Given the description of an element on the screen output the (x, y) to click on. 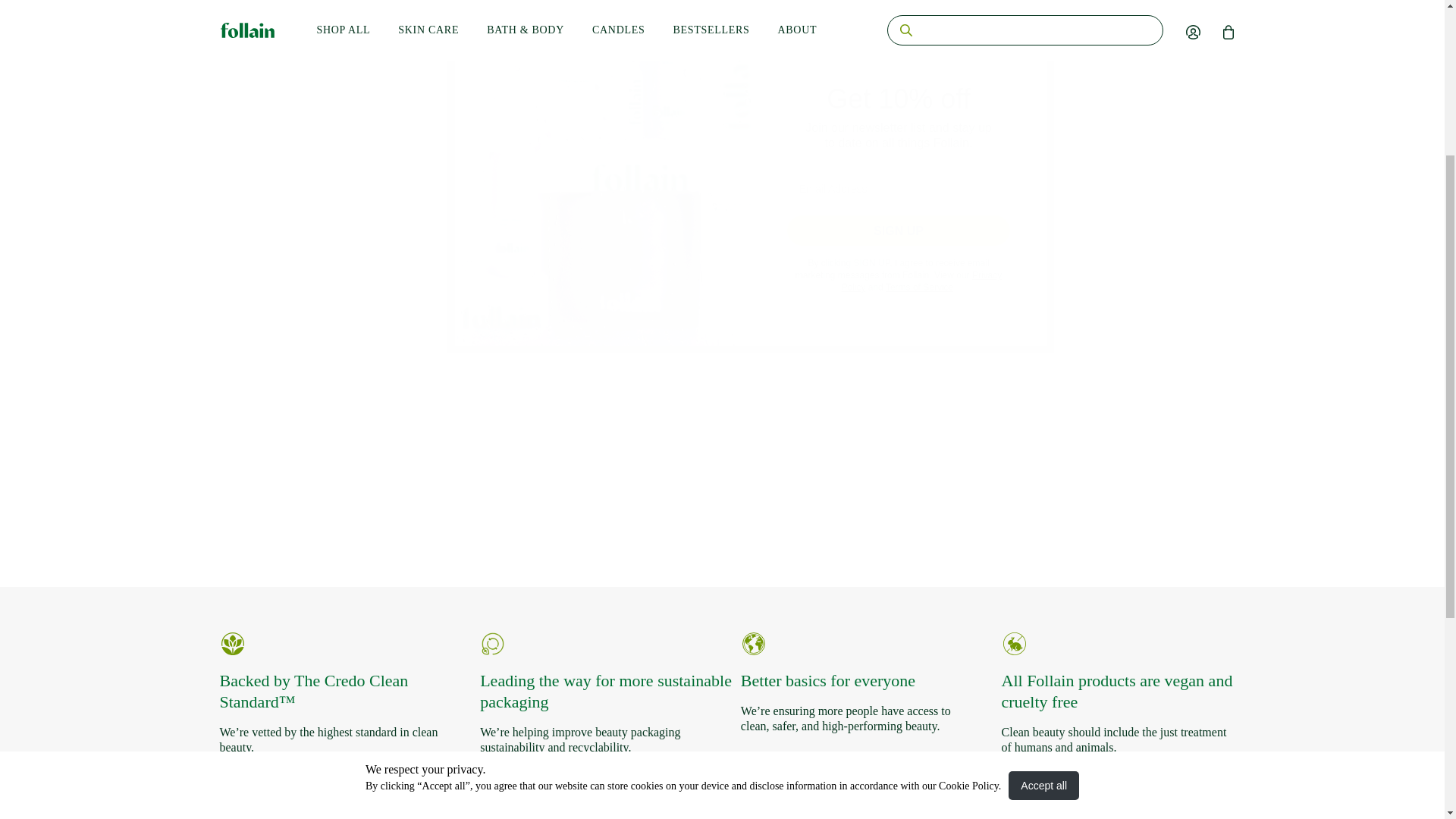
Accept all (1043, 529)
